Given the description of an element on the screen output the (x, y) to click on. 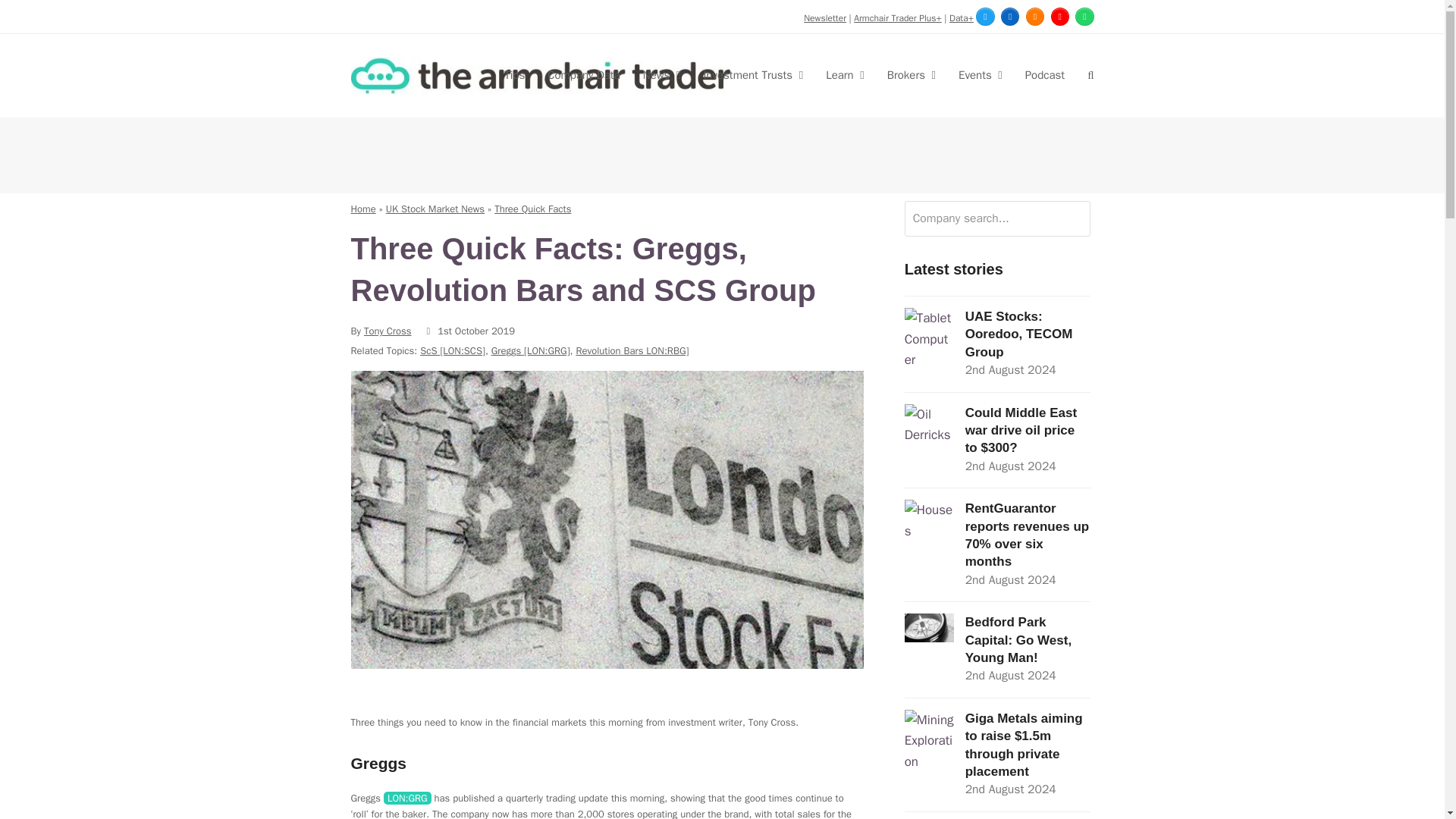
Tips (514, 75)
RSS (1034, 16)
News (662, 75)
LinkedIn (1010, 16)
LinkedIn (1010, 16)
Investment Trusts (752, 75)
WhatsApp (1084, 16)
Newsletter (824, 18)
YouTube (1059, 16)
Learn (844, 75)
RSS (1034, 16)
WhatsApp (1084, 16)
YouTube (1059, 16)
Greggs share price (407, 797)
Twitter (984, 16)
